Given the description of an element on the screen output the (x, y) to click on. 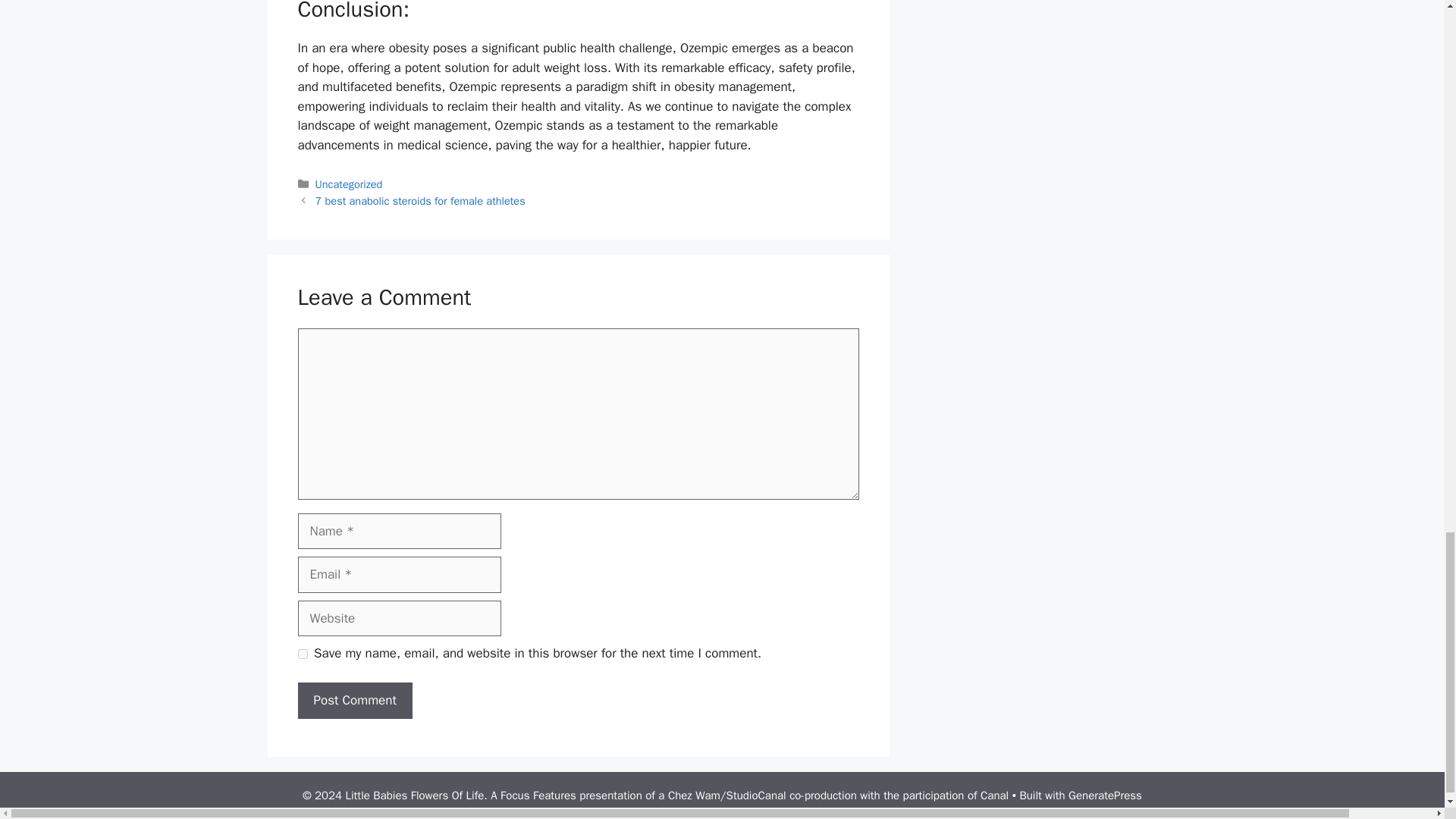
7 best anabolic steroids for female athletes (420, 201)
Post Comment (354, 700)
GeneratePress (1104, 795)
yes (302, 654)
Uncategorized (348, 183)
Post Comment (354, 700)
